Given the description of an element on the screen output the (x, y) to click on. 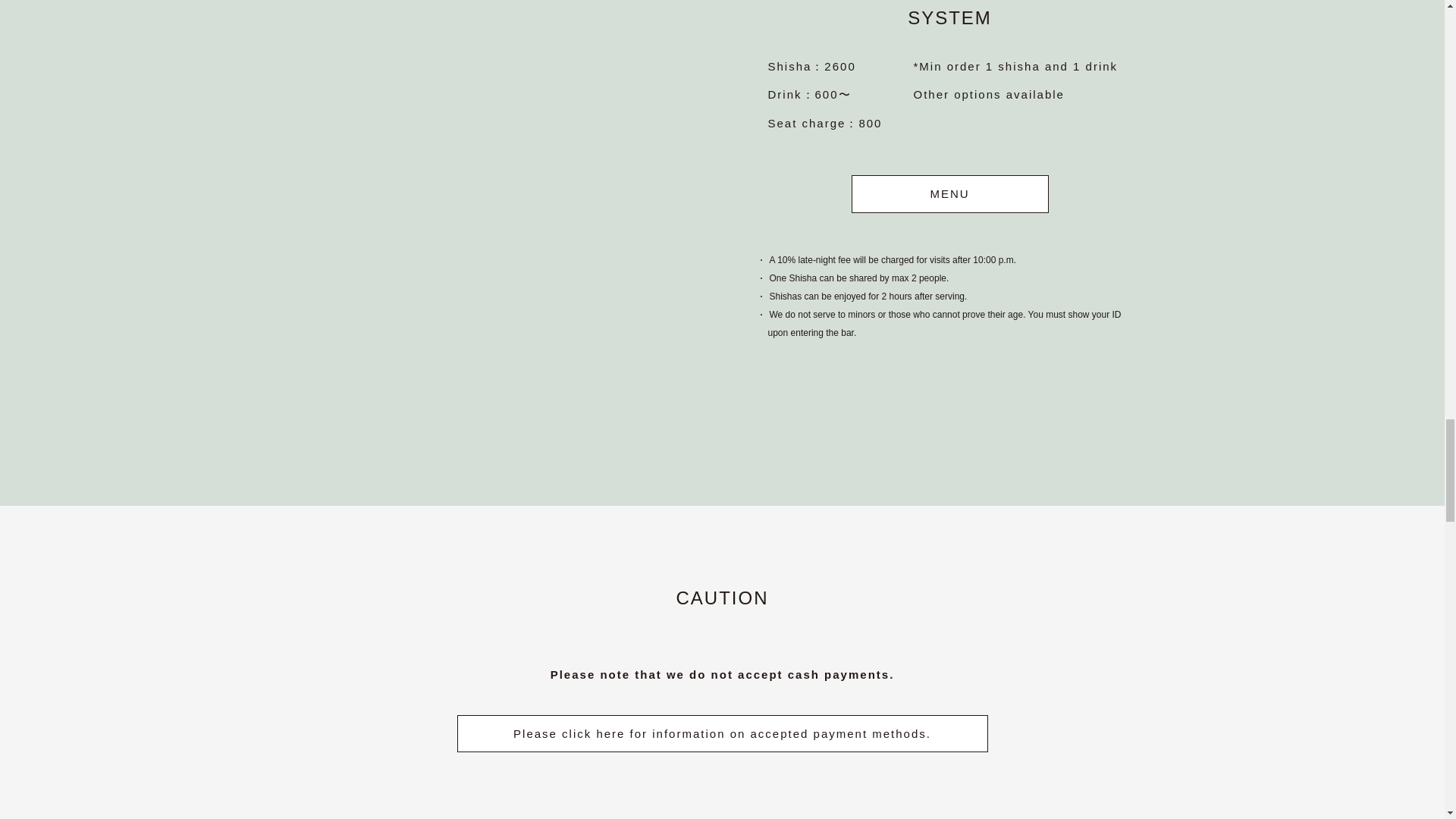
MENU (949, 193)
